Given the description of an element on the screen output the (x, y) to click on. 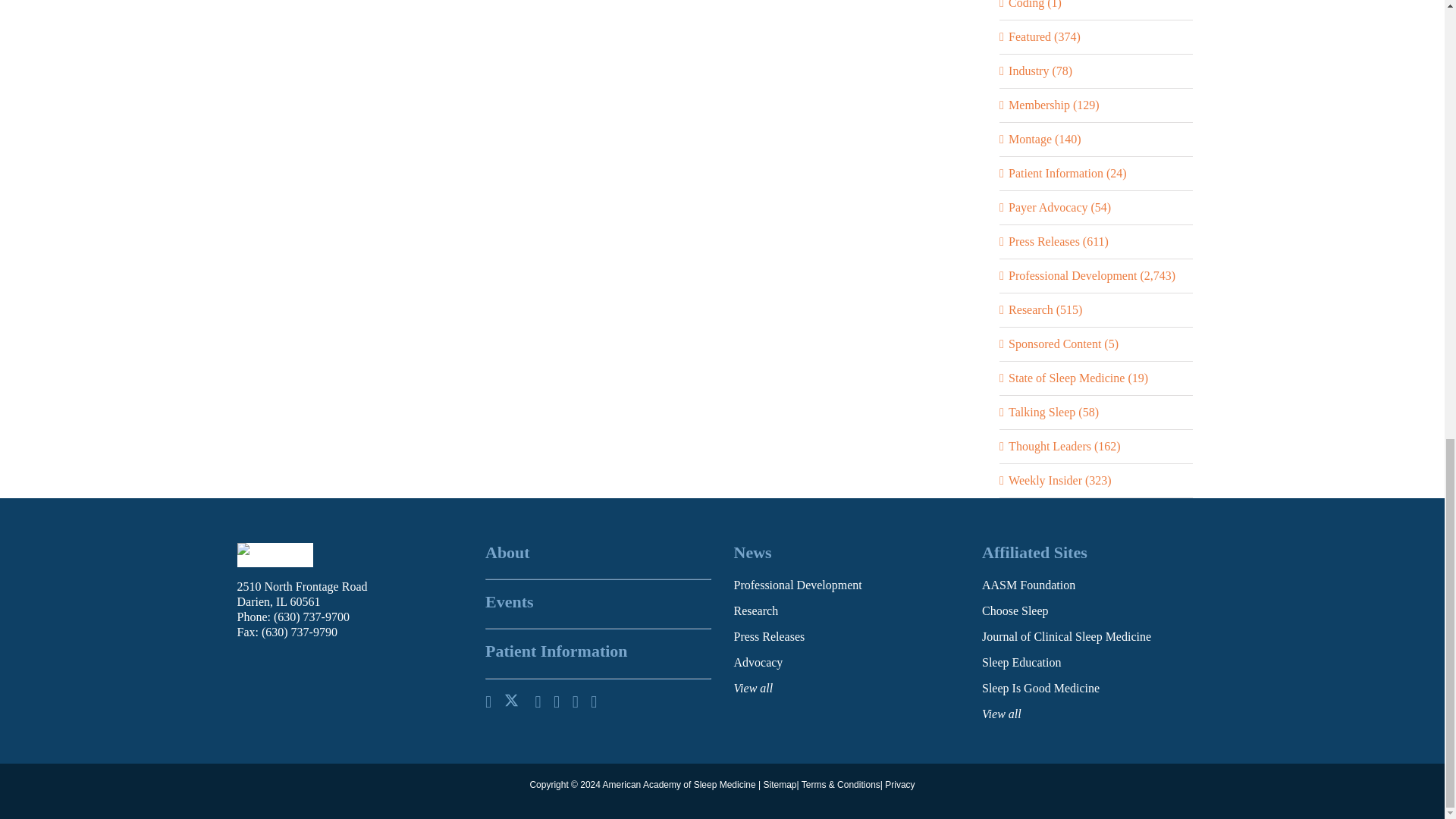
Twitter (512, 700)
